Given the description of an element on the screen output the (x, y) to click on. 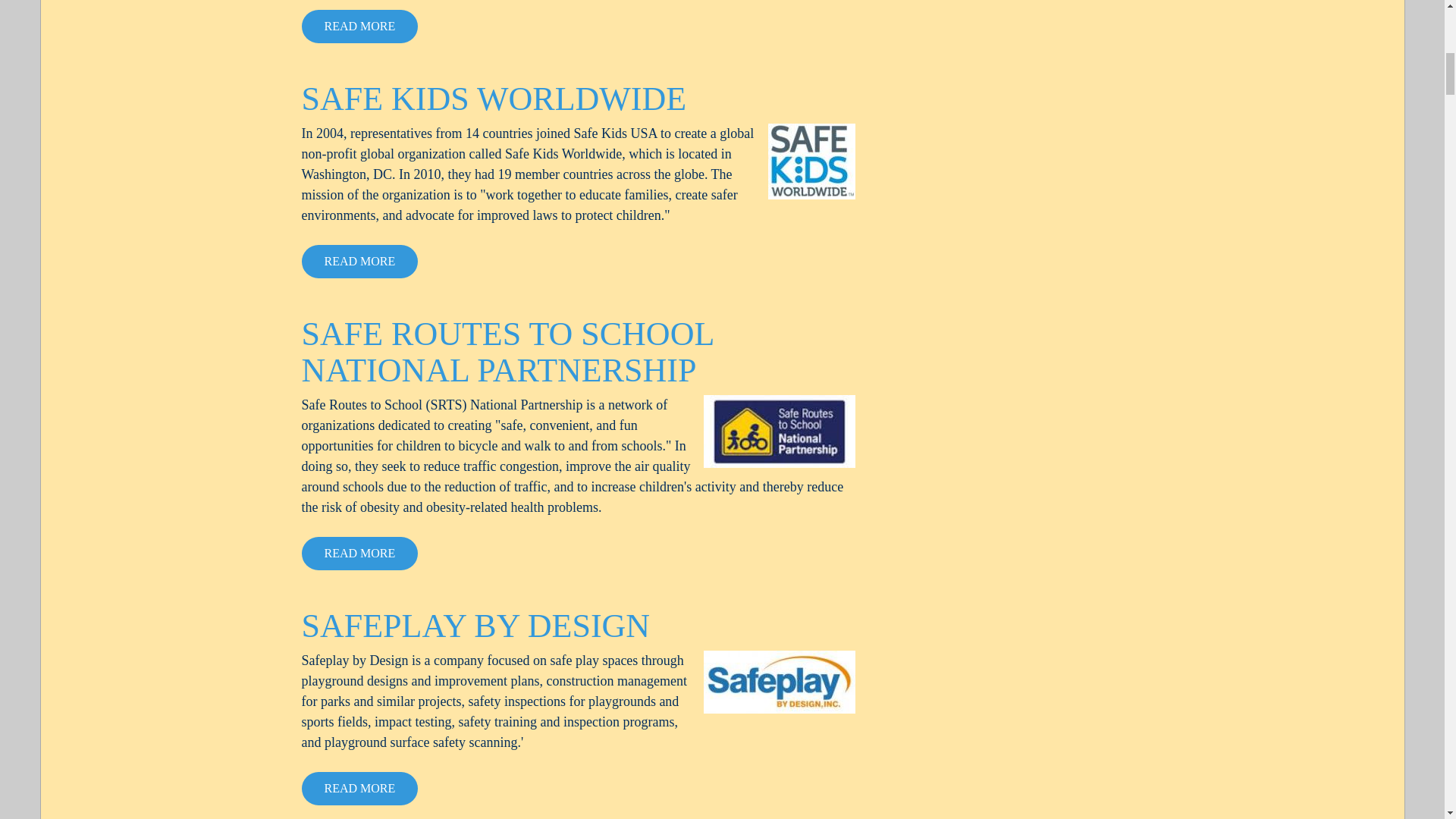
Safeplay by Design (779, 681)
Safe Routes to School National Partnership (779, 430)
Safe Kids Worldwide (810, 161)
